Given the description of an element on the screen output the (x, y) to click on. 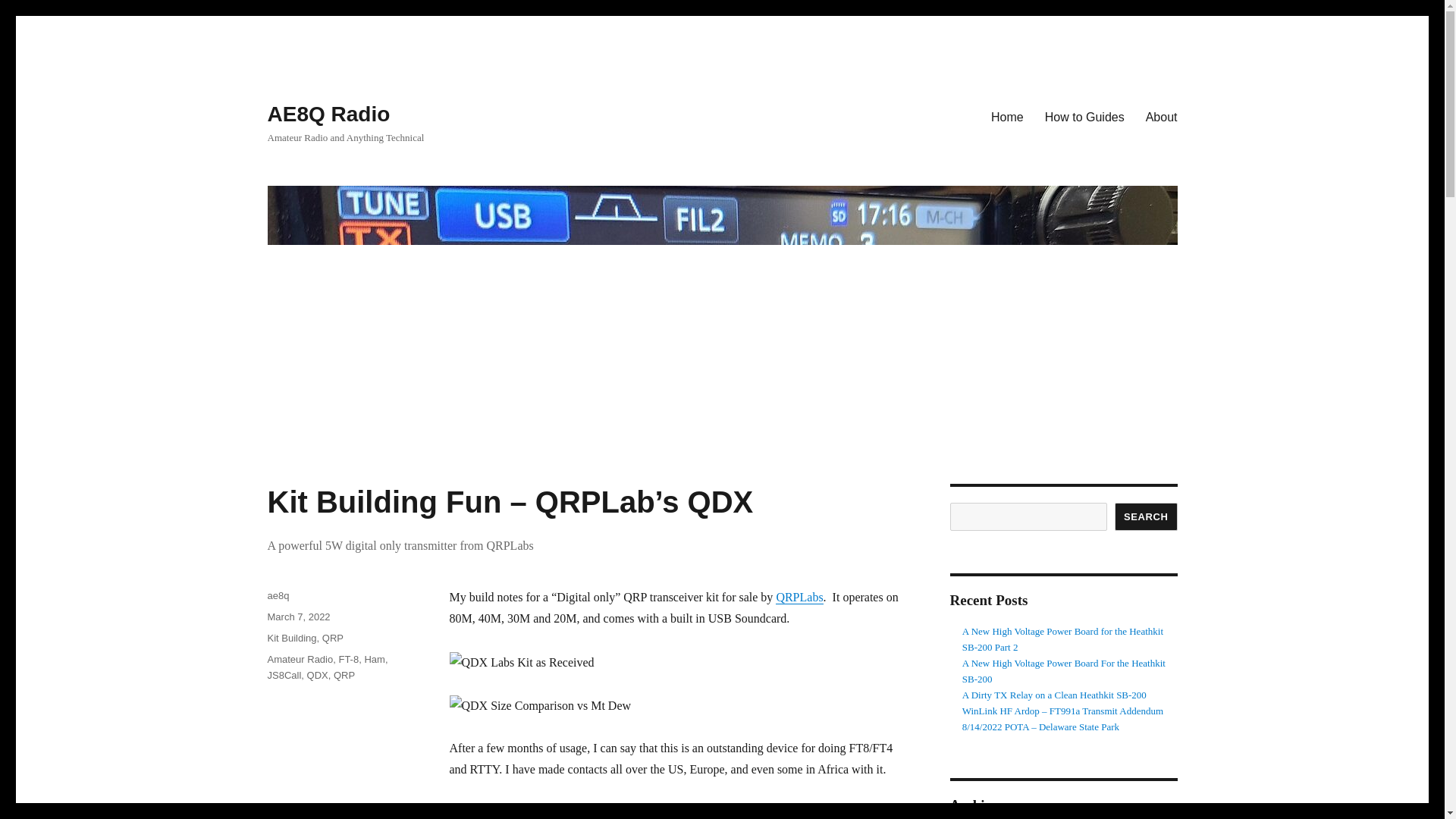
QDX (318, 674)
How to Guides (1084, 116)
SEARCH (1146, 516)
Kit Building (290, 637)
March 7, 2022 (298, 616)
Ham (374, 659)
Home (1006, 116)
FT-8 (347, 659)
A New High Voltage Power Board For the Heathkit SB-200 (1064, 670)
QRP (332, 637)
JS8Call (283, 674)
AE8Q Radio (328, 114)
QRPLabs (799, 596)
Amateur Radio (299, 659)
QRP (344, 674)
